Given the description of an element on the screen output the (x, y) to click on. 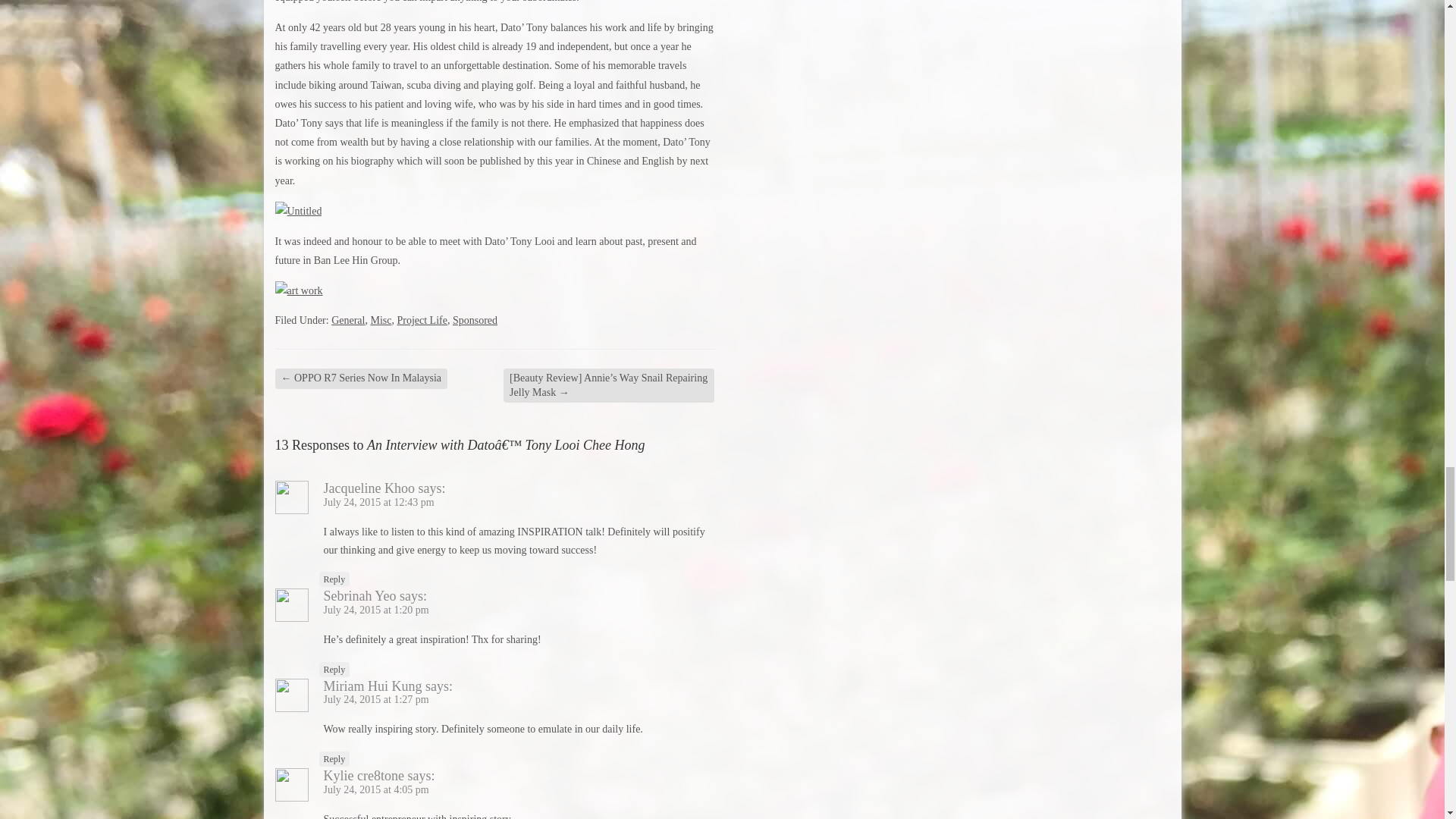
General (348, 319)
Project Life (421, 319)
July 24, 2015 at 1:20 pm (375, 609)
Reply (333, 669)
Sponsored (474, 319)
July 24, 2015 at 12:43 pm (378, 501)
July 24, 2015 at 1:27 pm (375, 699)
Reply (333, 579)
Misc (380, 319)
Jacqueline Khoo (368, 488)
